Given the description of an element on the screen output the (x, y) to click on. 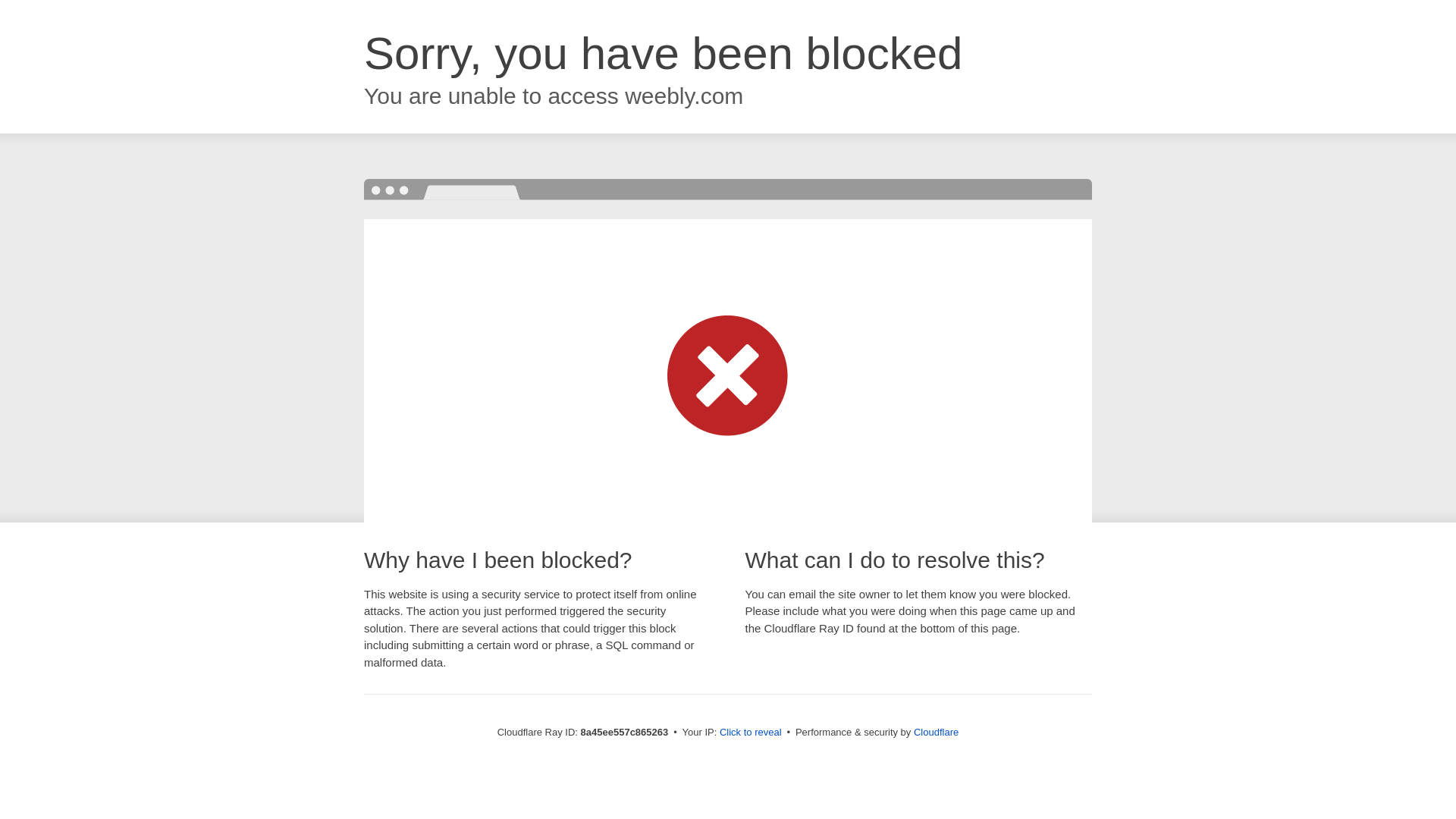
Click to reveal (750, 732)
Cloudflare (936, 731)
